Given the description of an element on the screen output the (x, y) to click on. 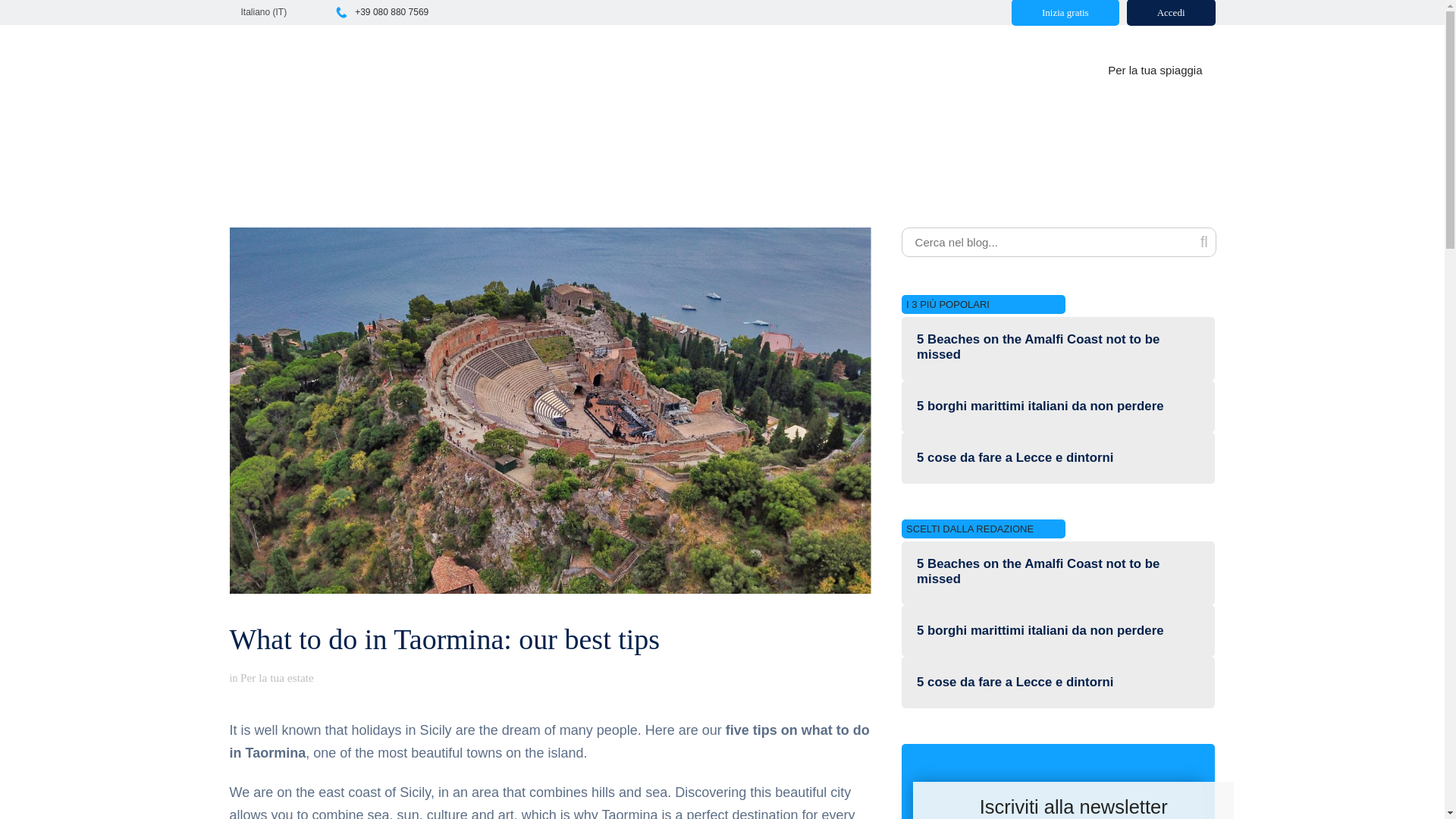
5 Beaches on the Amalfi Coast not to be missed (1058, 347)
Accedi (1170, 12)
Per la tua estate (277, 676)
Inizia gratis (1065, 12)
5 borghi marittimi italiani da non perdere (1040, 630)
Per la tua spiaggia (1154, 70)
5 Beaches on the Amalfi Coast not to be missed (1058, 571)
5 cose da fare a Lecce e dintorni (1015, 682)
5 cose da fare a Lecce e dintorni (1015, 458)
5 borghi marittimi italiani da non perdere (1040, 406)
